Given the description of an element on the screen output the (x, y) to click on. 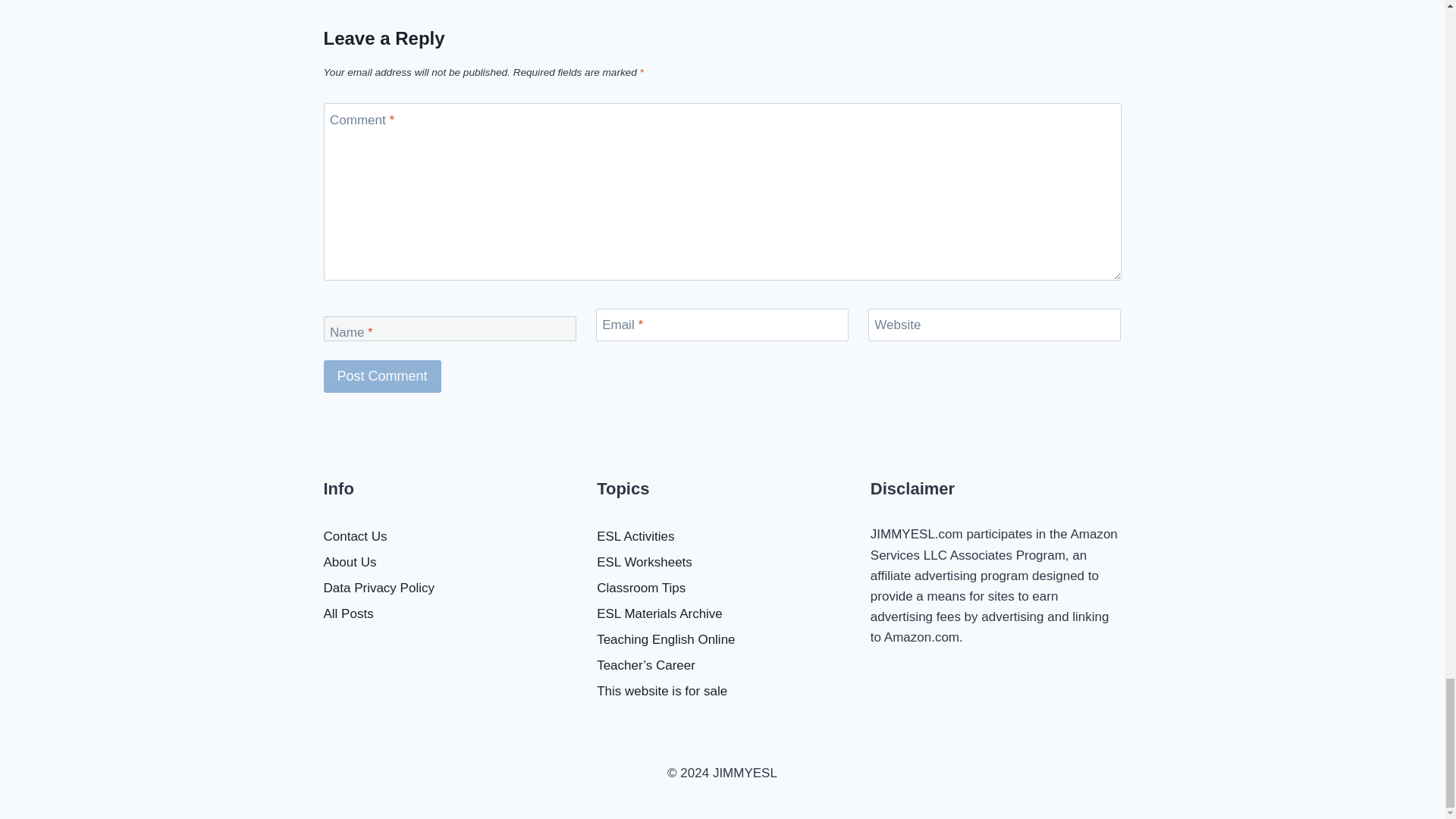
Data Privacy Policy (448, 588)
Contact Us (448, 536)
Post Comment (382, 376)
ESL Activities (721, 536)
All Posts (448, 614)
About Us (448, 562)
Post Comment (382, 376)
